Given the description of an element on the screen output the (x, y) to click on. 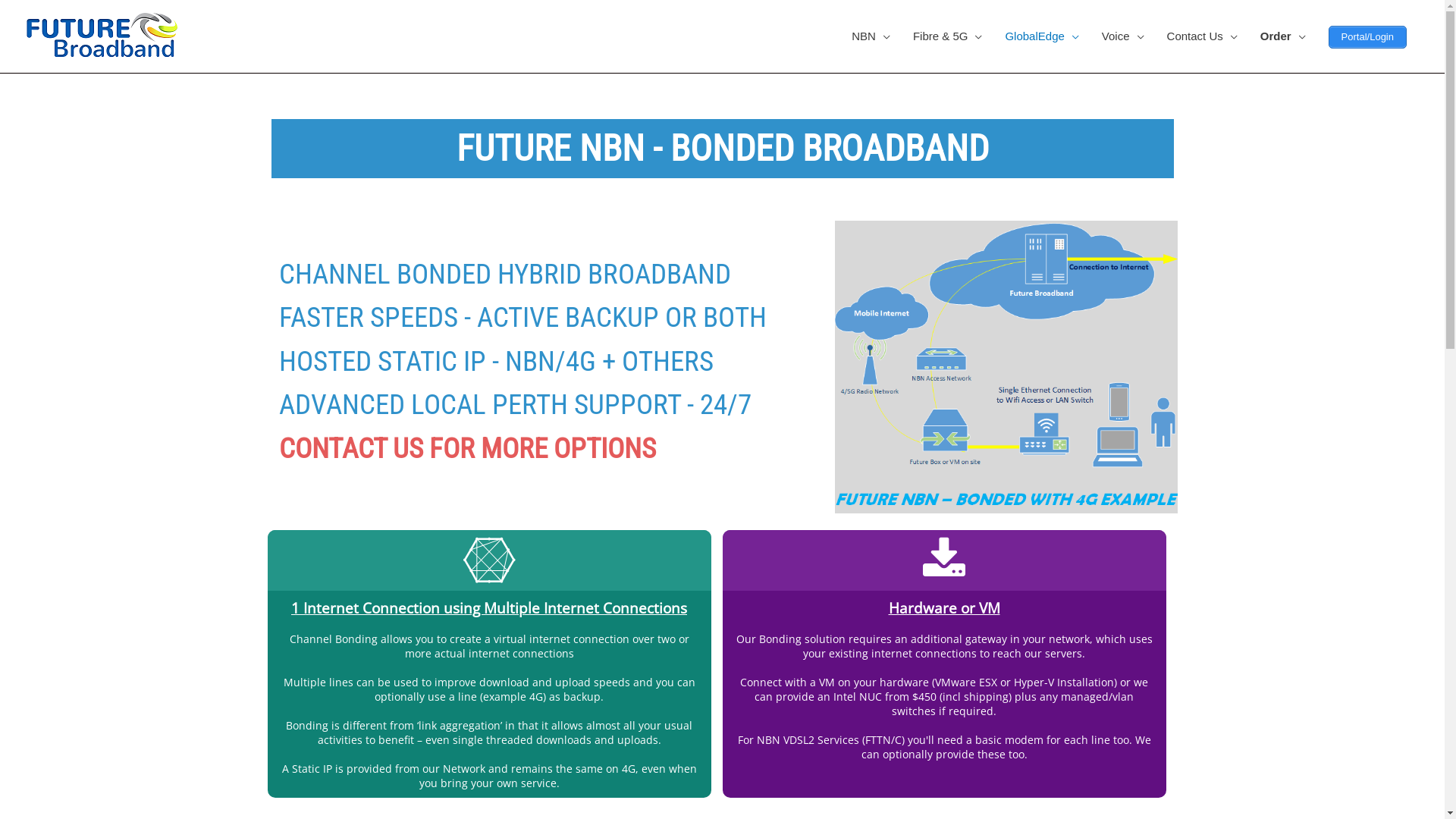
GlobalEdge Element type: text (1041, 36)
Portal/Login Element type: text (1367, 36)
Contact Us Element type: text (1201, 36)
Order Element type: text (1282, 36)
NBN Element type: text (870, 36)
Fibre & 5G Element type: text (947, 36)
Voice Element type: text (1122, 36)
